Given the description of an element on the screen output the (x, y) to click on. 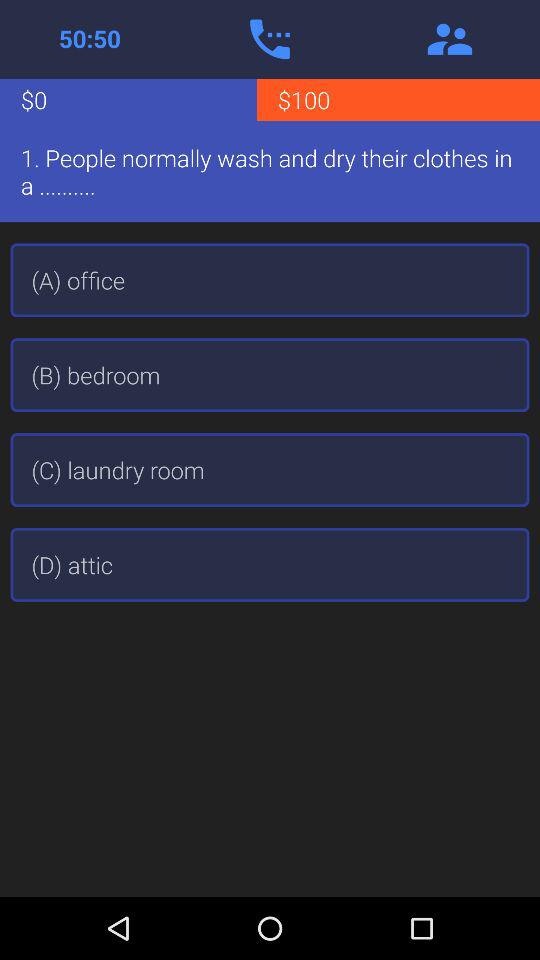
phone a friend (270, 39)
